Given the description of an element on the screen output the (x, y) to click on. 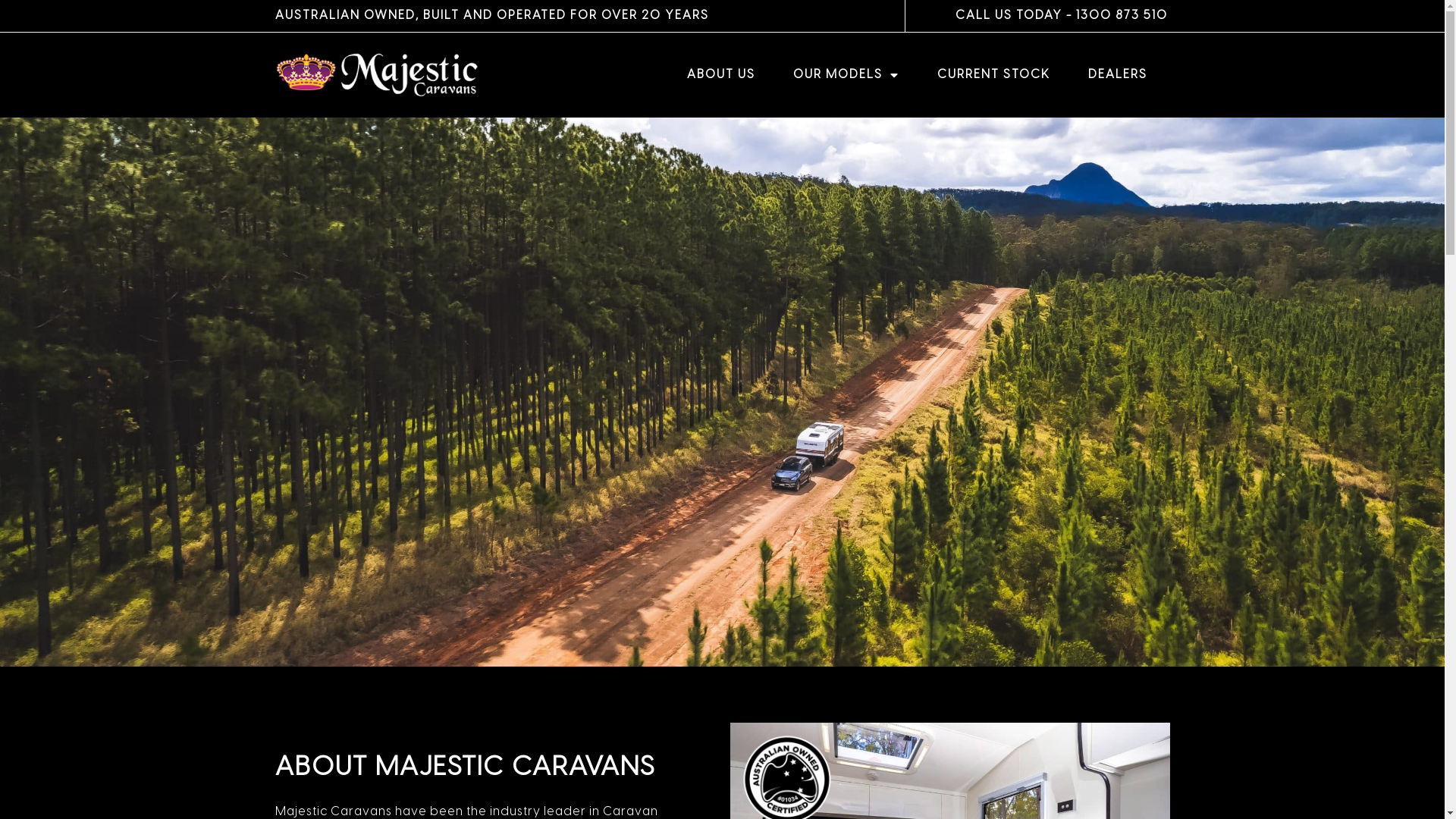
CURRENT STOCK Element type: text (993, 74)
CALL US TODAY - 1300 873 510 Element type: text (1061, 15)
OUR MODELS Element type: text (846, 74)
DEALERS Element type: text (1117, 74)
ABOUT US Element type: text (721, 74)
